Given the description of an element on the screen output the (x, y) to click on. 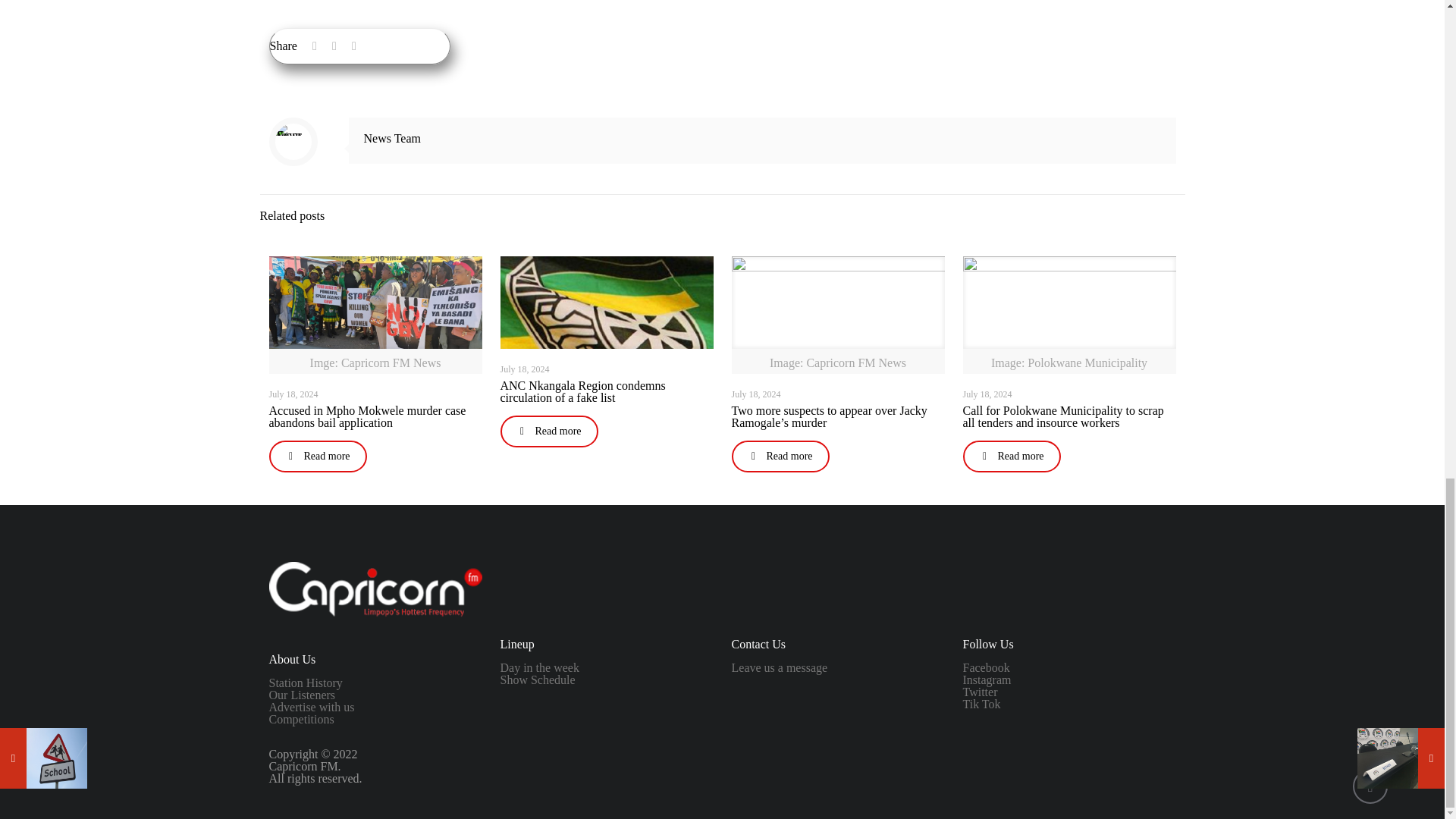
Read more (549, 431)
ANC Nkangala Region condemns circulation of a fake list (582, 391)
Read more (779, 456)
News Team (392, 137)
Read more (316, 456)
